Given the description of an element on the screen output the (x, y) to click on. 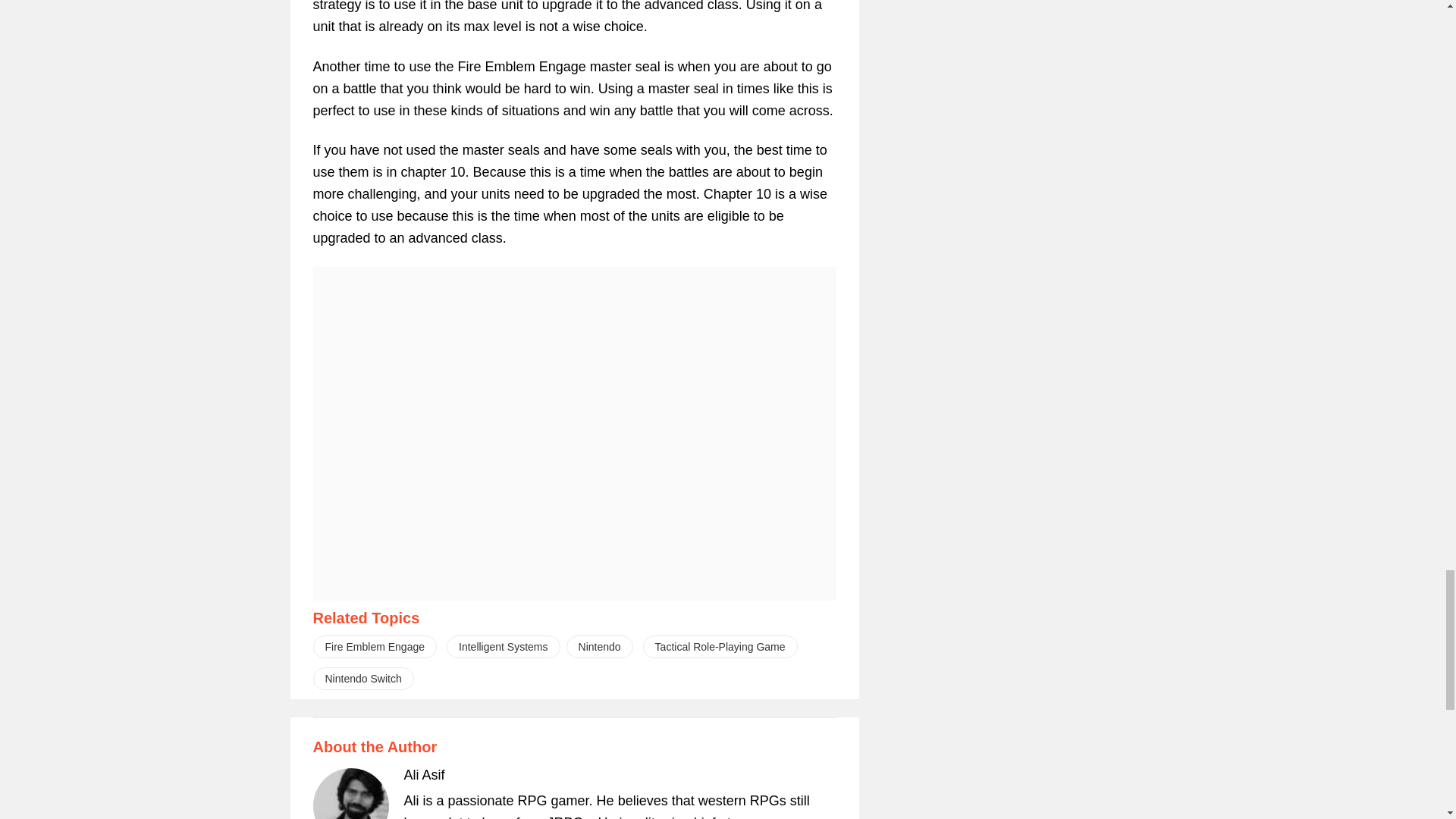
Nintendo Switch (363, 678)
Fire Emblem Engage (374, 646)
Ali Asif (423, 774)
Nintendo (599, 646)
Tactical Role-Playing Game (720, 646)
Intelligent Systems (503, 646)
Ali Asif (423, 774)
